Given the description of an element on the screen output the (x, y) to click on. 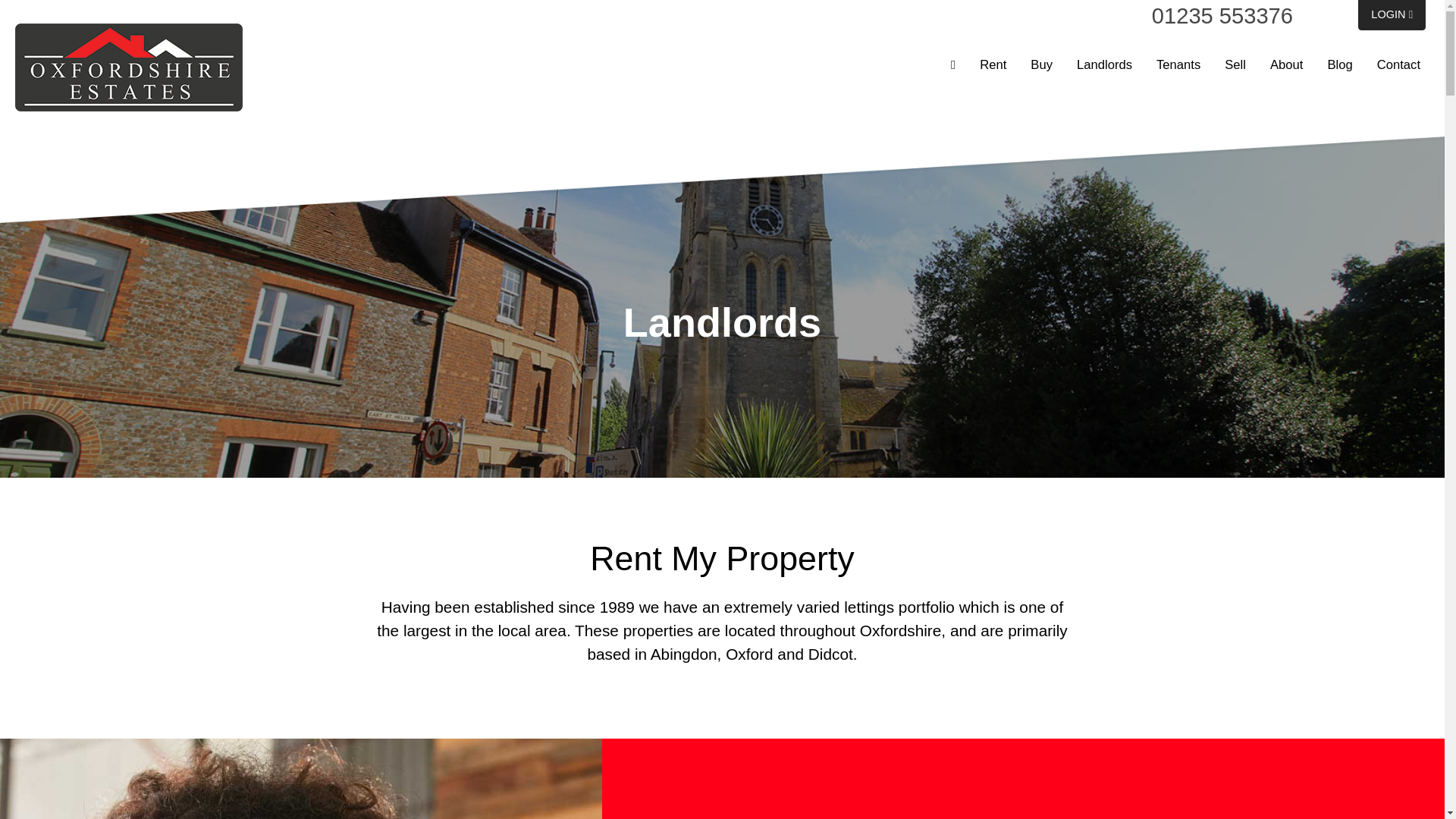
Sell (1234, 64)
Blog (1339, 64)
01235 553376 (1221, 15)
Contact (1398, 64)
Landlords (1104, 64)
Rent (992, 64)
About (1285, 64)
LOGIN (1391, 15)
Buy (1040, 64)
Tenants (1178, 64)
